Given the description of an element on the screen output the (x, y) to click on. 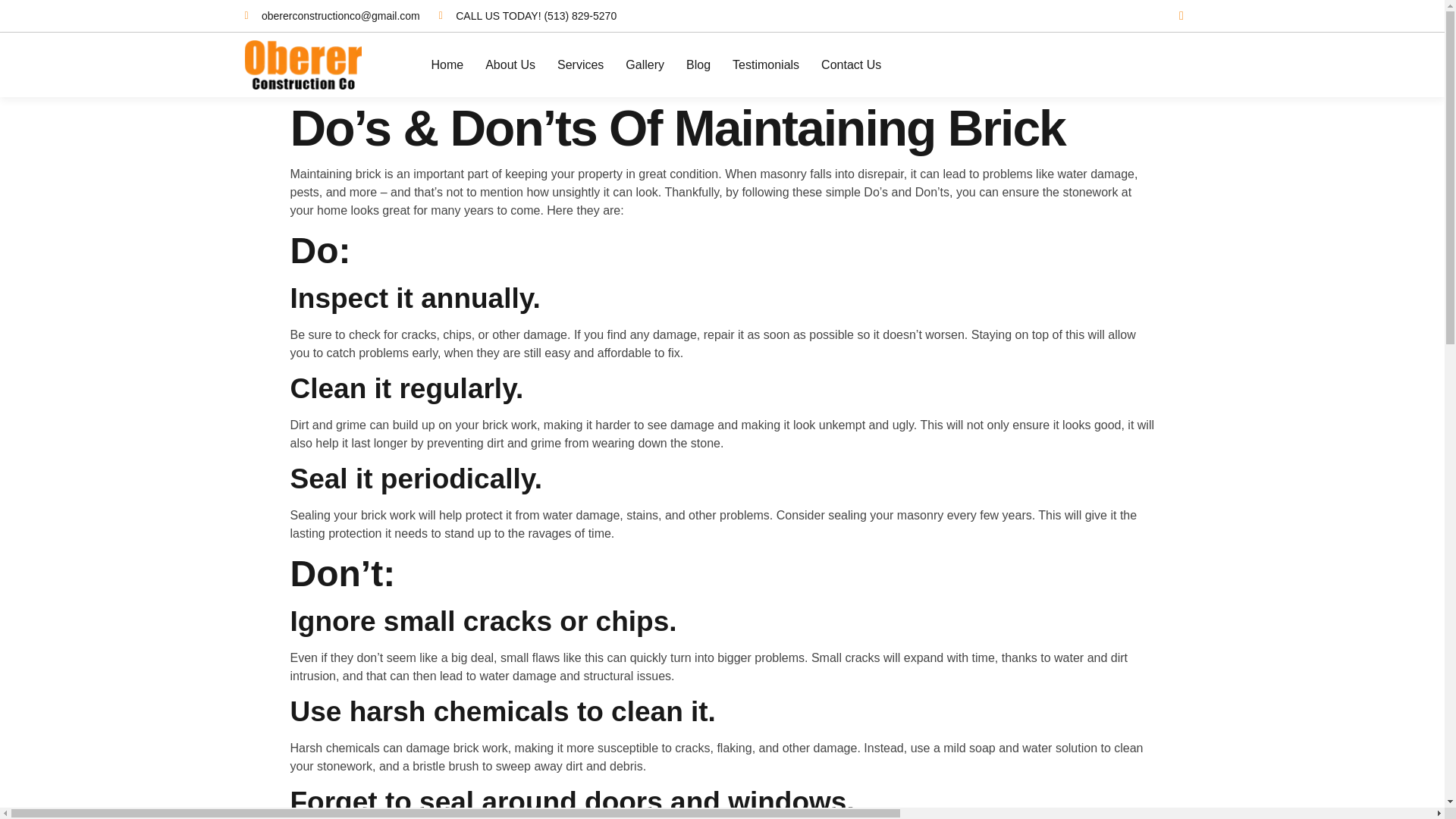
Services (580, 64)
Contact Us (850, 64)
Testimonials (765, 64)
About Us (509, 64)
